Given the description of an element on the screen output the (x, y) to click on. 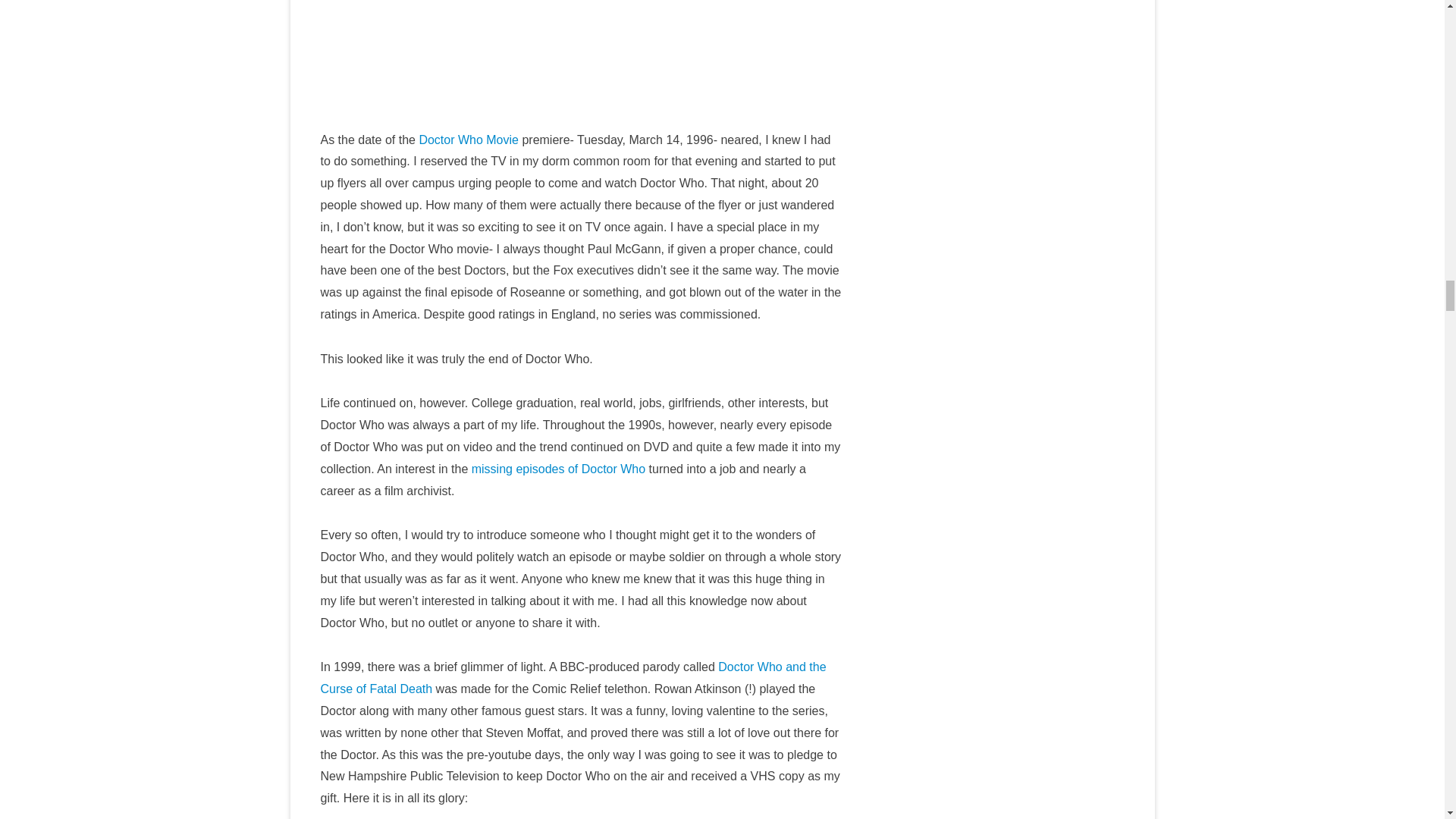
Doctor Who Movie (468, 139)
missing episodes of Doctor Who (558, 468)
Doctor Who and the Curse of Fatal Death (572, 677)
